Given the description of an element on the screen output the (x, y) to click on. 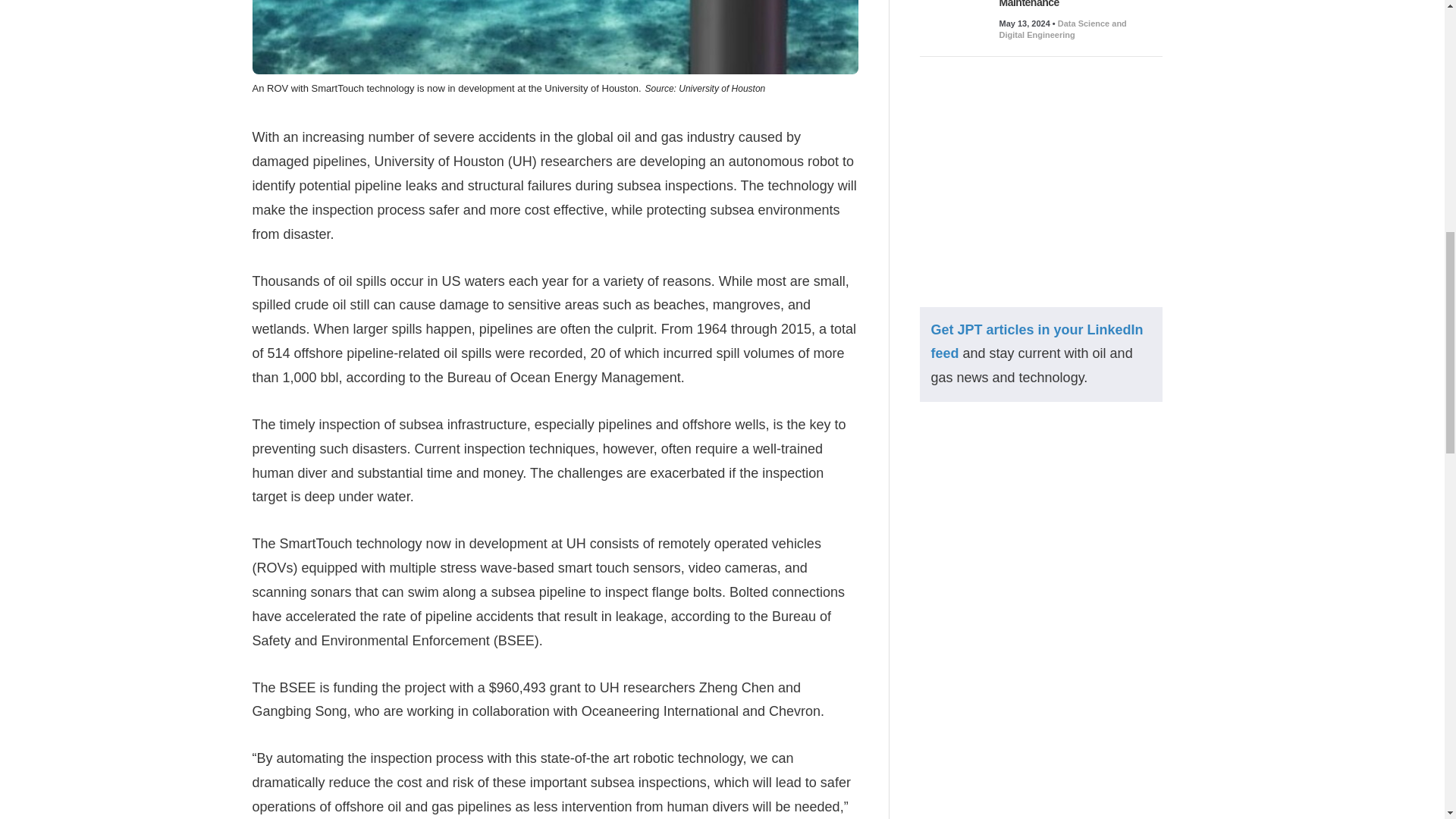
3rd party ad content (1040, 181)
